Given the description of an element on the screen output the (x, y) to click on. 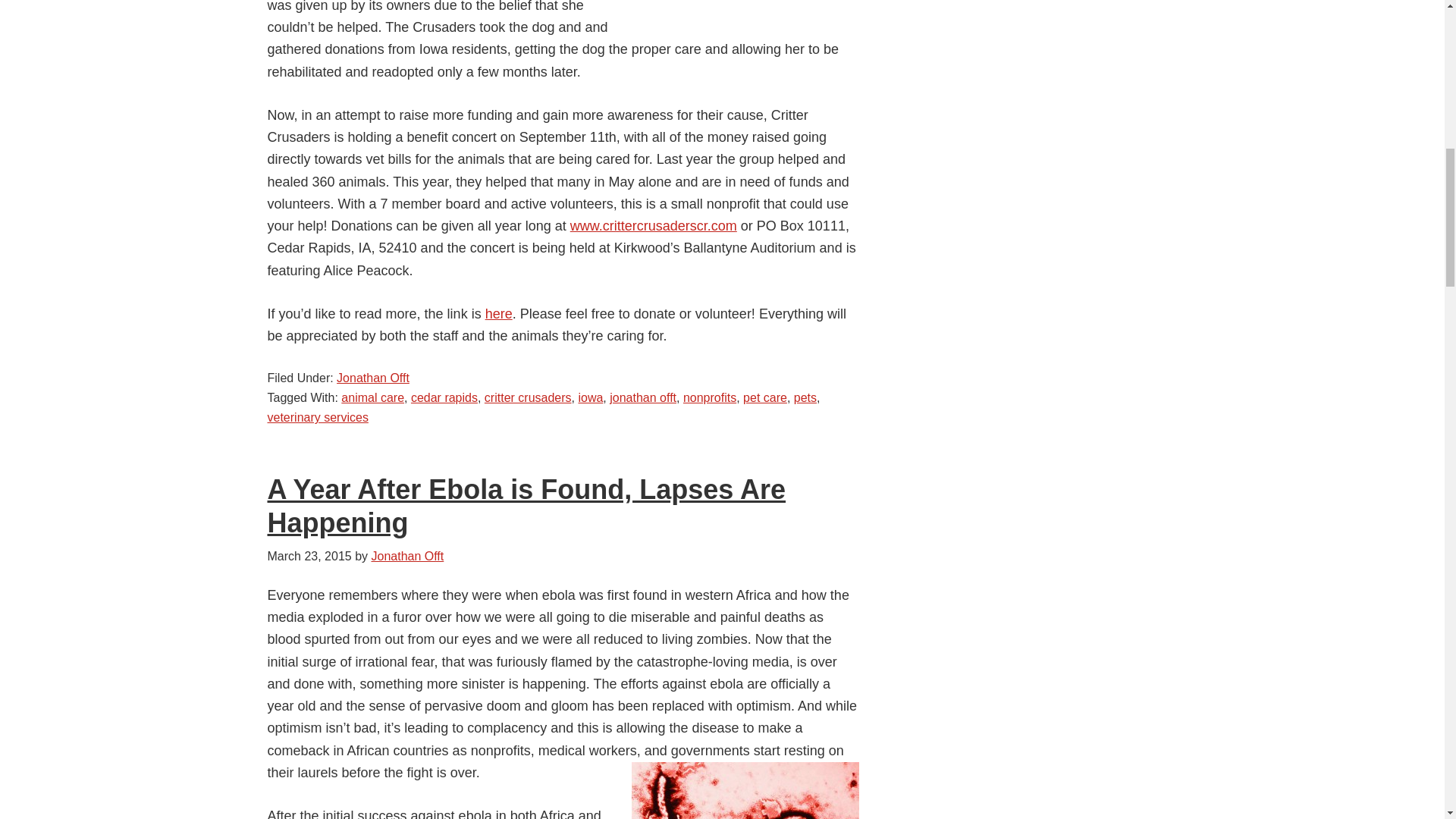
pet care (764, 397)
Jonathan Offt (407, 555)
critter crusaders (528, 397)
jonathan offt (643, 397)
veterinary services (317, 417)
A Year After Ebola is Found, Lapses Are Happening (526, 505)
here (498, 313)
pets (804, 397)
cedar rapids (443, 397)
Jonathan Offt (372, 377)
